Given the description of an element on the screen output the (x, y) to click on. 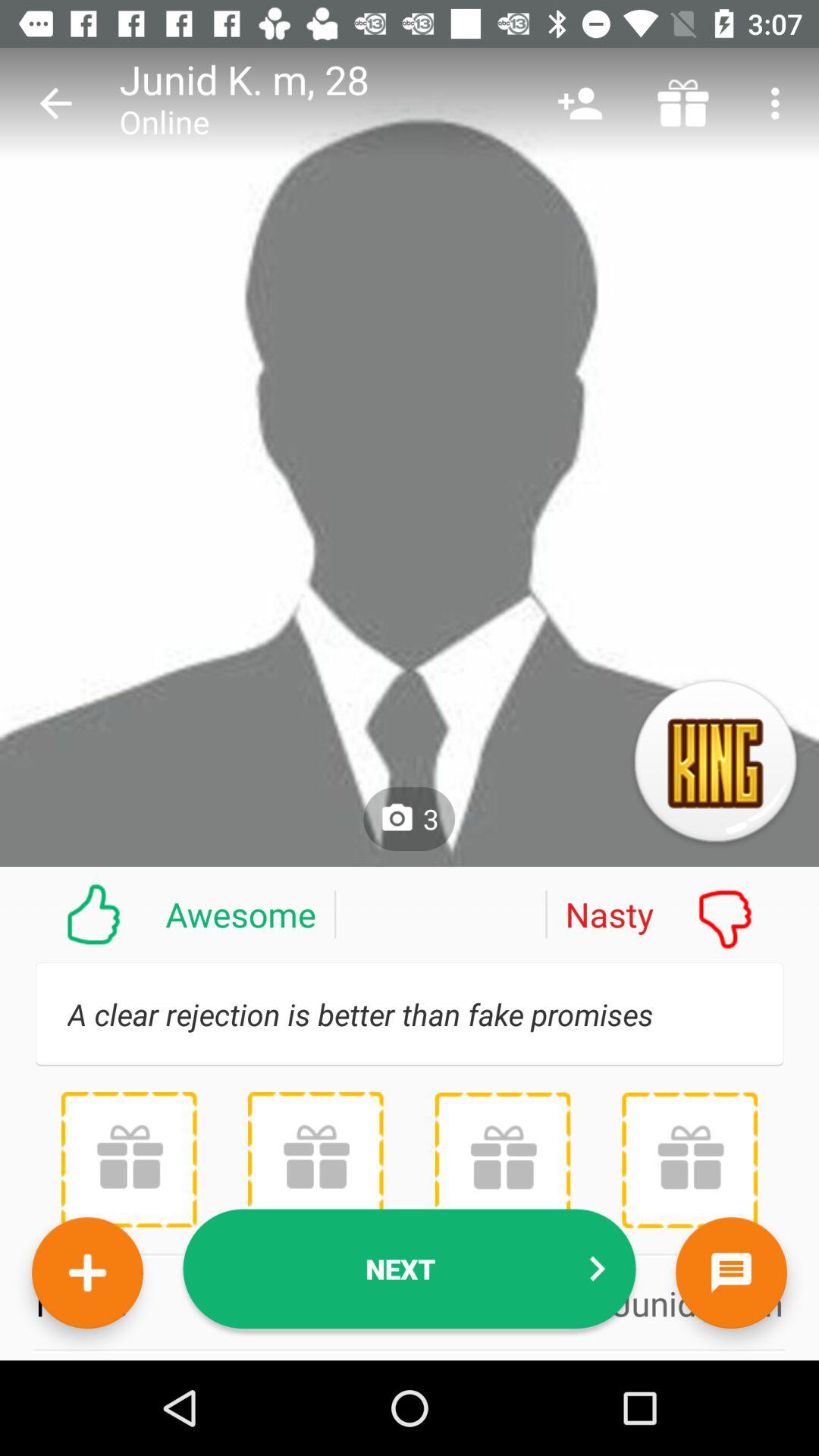
view profile gifts received (502, 1159)
